Given the description of an element on the screen output the (x, y) to click on. 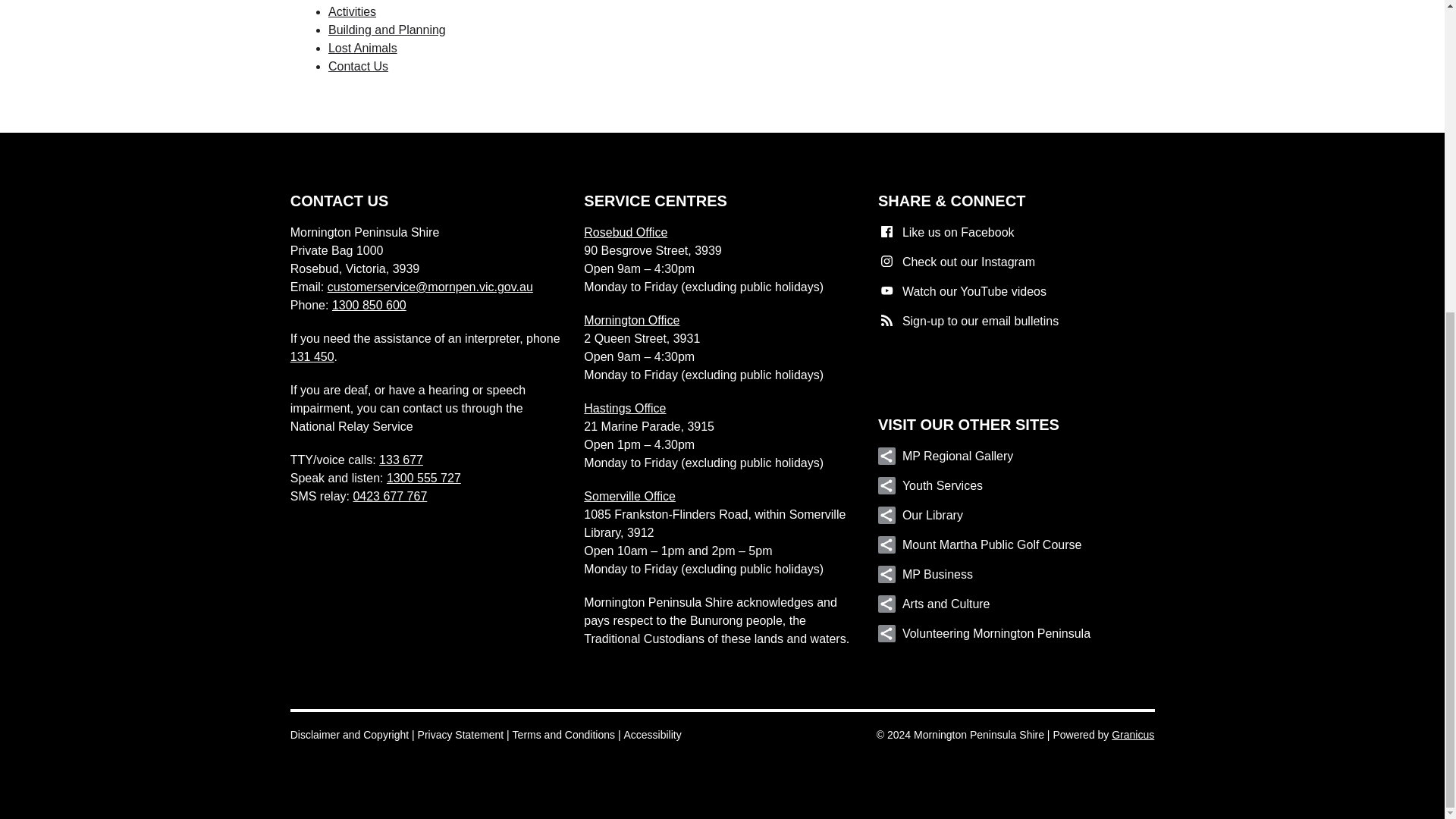
Lost Animals (363, 47)
Activities (352, 11)
